Given the description of an element on the screen output the (x, y) to click on. 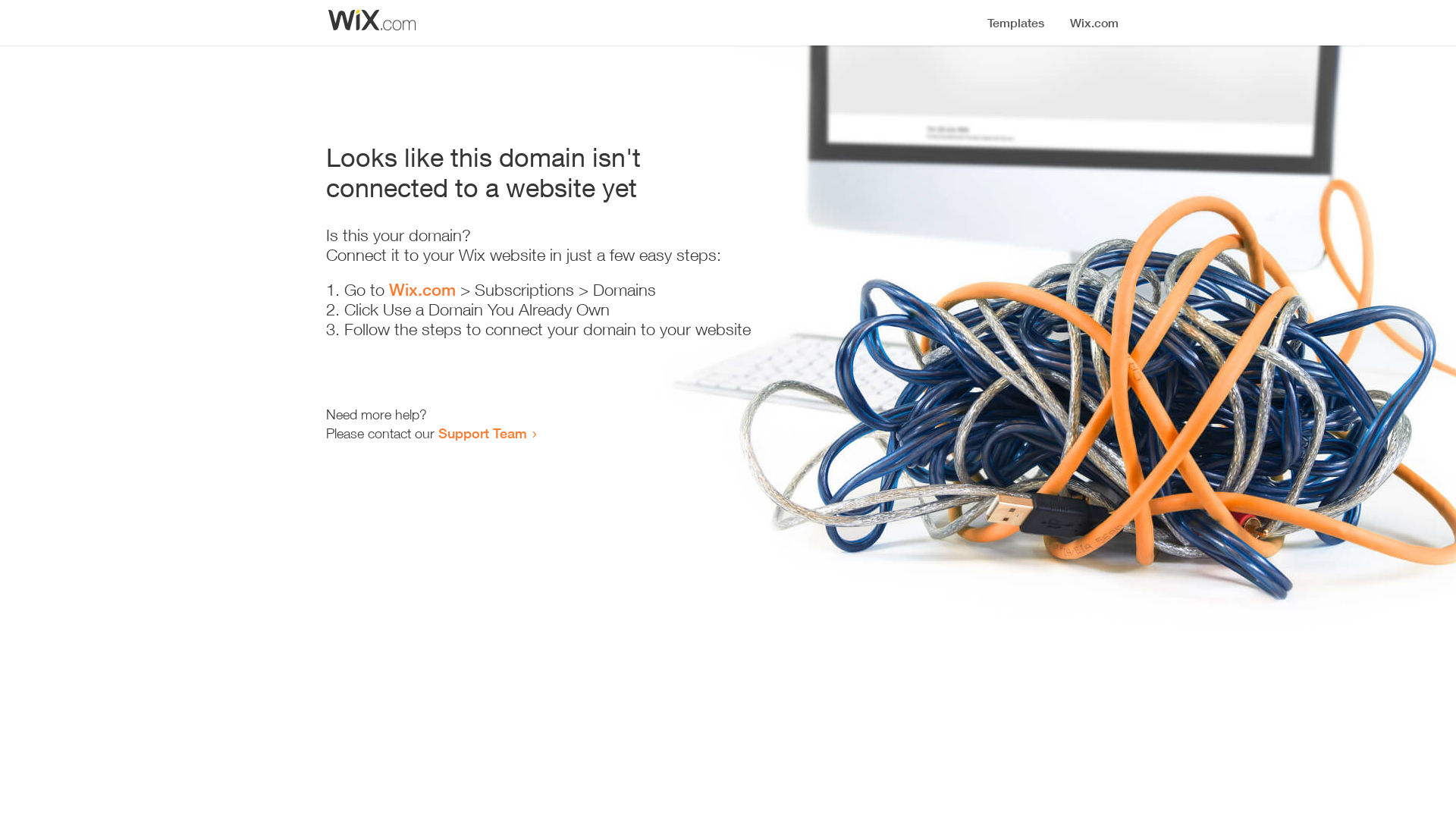
Wix.com Element type: text (422, 289)
Support Team Element type: text (482, 432)
